Given the description of an element on the screen output the (x, y) to click on. 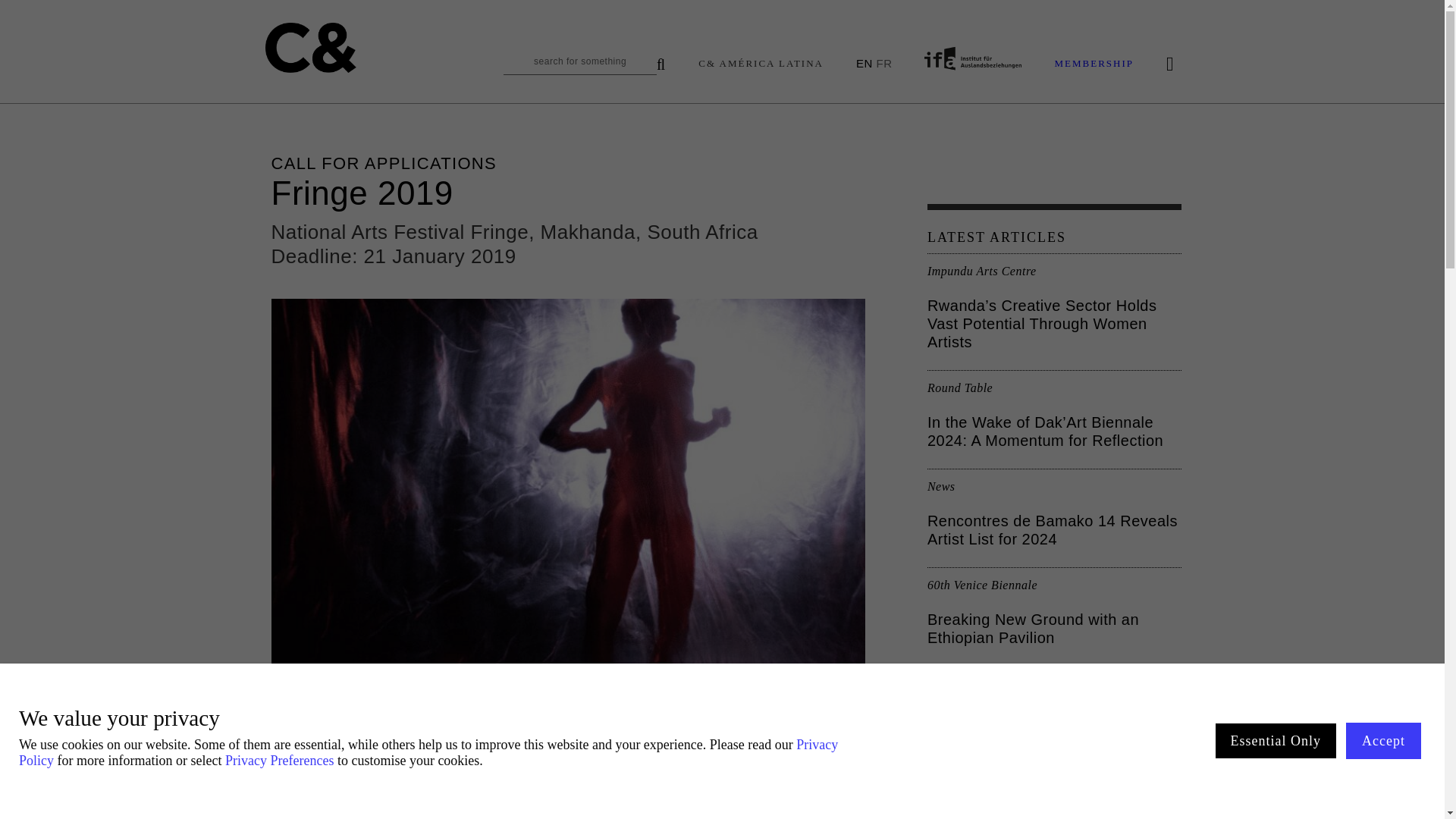
FR (883, 62)
search for something (584, 65)
MEMBERSHIP (1094, 63)
EN (864, 62)
